Given the description of an element on the screen output the (x, y) to click on. 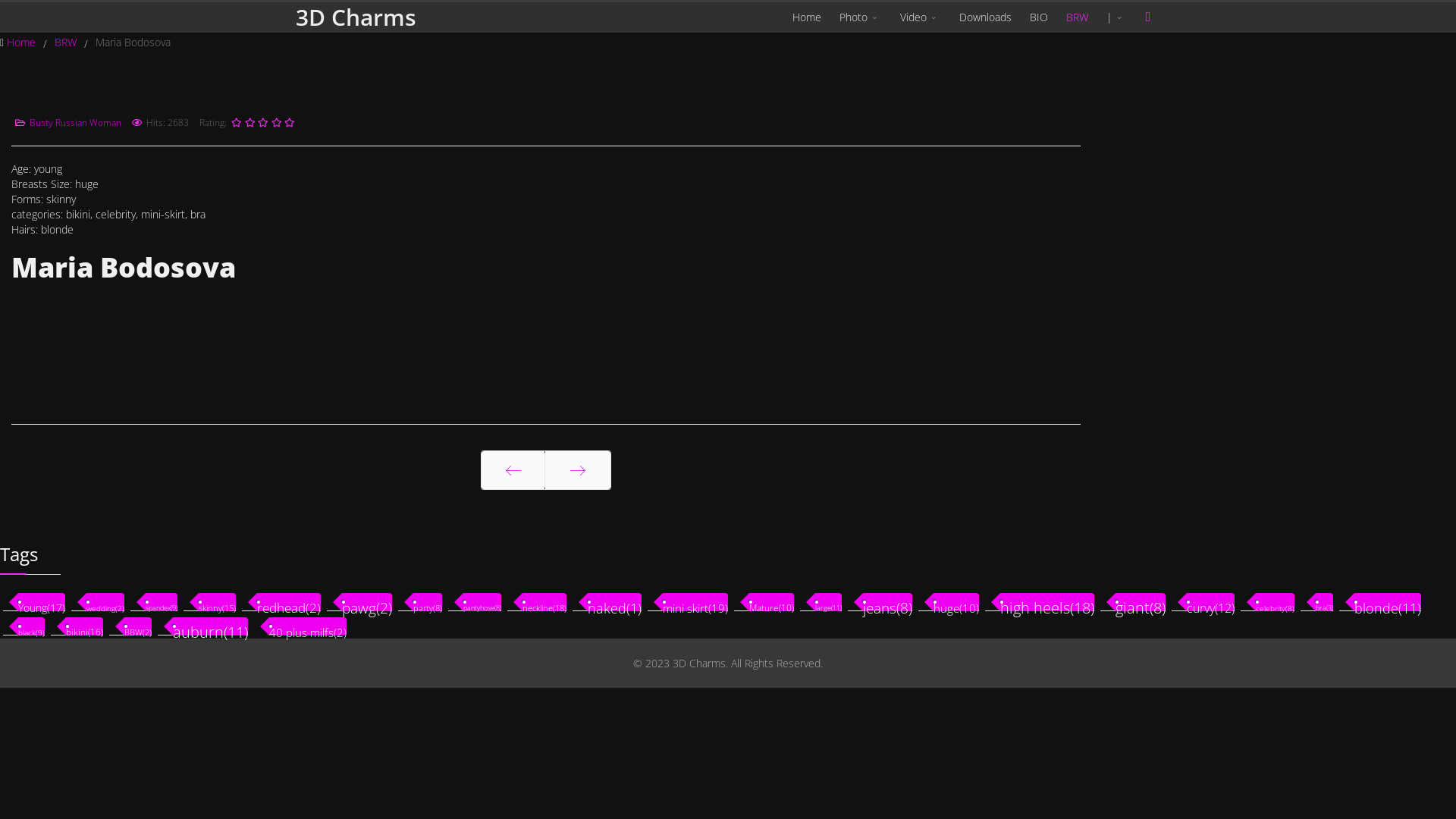
40 plus milfs(2) Element type: text (307, 626)
bikini(16) Element type: text (84, 626)
auburn(11) Element type: text (209, 626)
Video Element type: text (920, 17)
Downloads Element type: text (985, 17)
Young(17) Element type: text (41, 602)
BIO Element type: text (1038, 17)
BBW(2) Element type: text (137, 626)
Mature(10) Element type: text (771, 602)
curvy(12) Element type: text (1210, 602)
BRW Element type: text (1077, 17)
pawg(2) Element type: text (367, 602)
BRW Element type: text (66, 41)
giant(8) Element type: text (1140, 602)
jeans(8) Element type: text (887, 602)
blonde(11) Element type: text (1387, 602)
party(8) Element type: text (427, 602)
huge(10) Element type: text (956, 602)
bra(3) Element type: text (1324, 602)
spandex(9) Element type: text (161, 602)
Home Element type: text (806, 17)
| Element type: text (1116, 17)
high heels(18) Element type: text (1047, 602)
neckline(18) Element type: text (544, 602)
black(9) Element type: text (31, 626)
skinny(15) Element type: text (216, 602)
celebrity(8) Element type: text (1274, 602)
Home Element type: text (22, 41)
3D Charms Element type: text (355, 17)
Busty Russian Woman Element type: text (75, 122)
pantyhose(8) Element type: text (482, 602)
Photo Element type: text (860, 17)
mini skirt(19) Element type: text (695, 602)
large(11) Element type: text (828, 602)
Menu Element type: hover (1147, 16)
naked(1) Element type: text (614, 602)
wedding(2) Element type: text (105, 602)
redhead(2) Element type: text (288, 602)
